Given the description of an element on the screen output the (x, y) to click on. 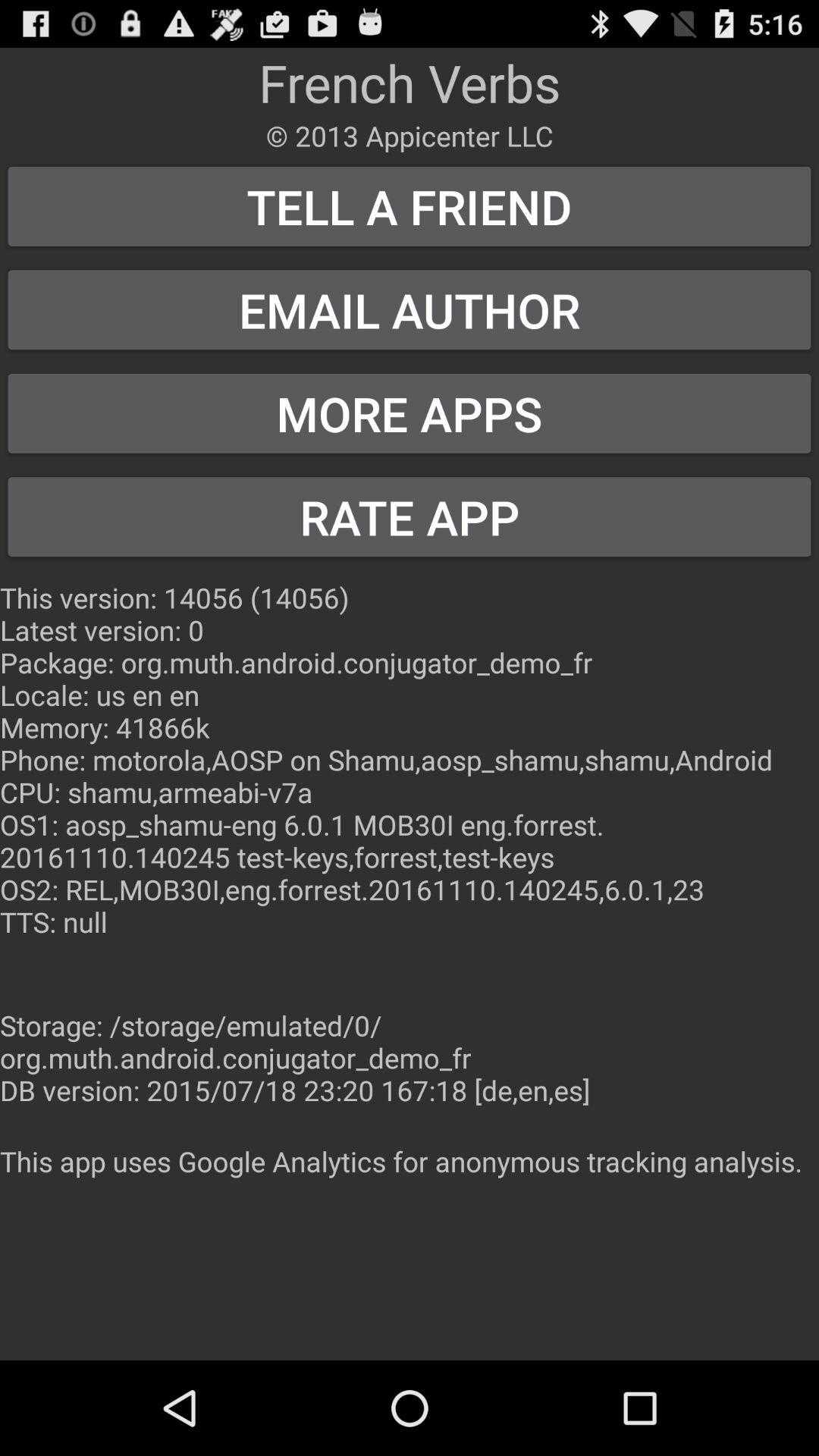
select the button above the rate app button (409, 413)
